Given the description of an element on the screen output the (x, y) to click on. 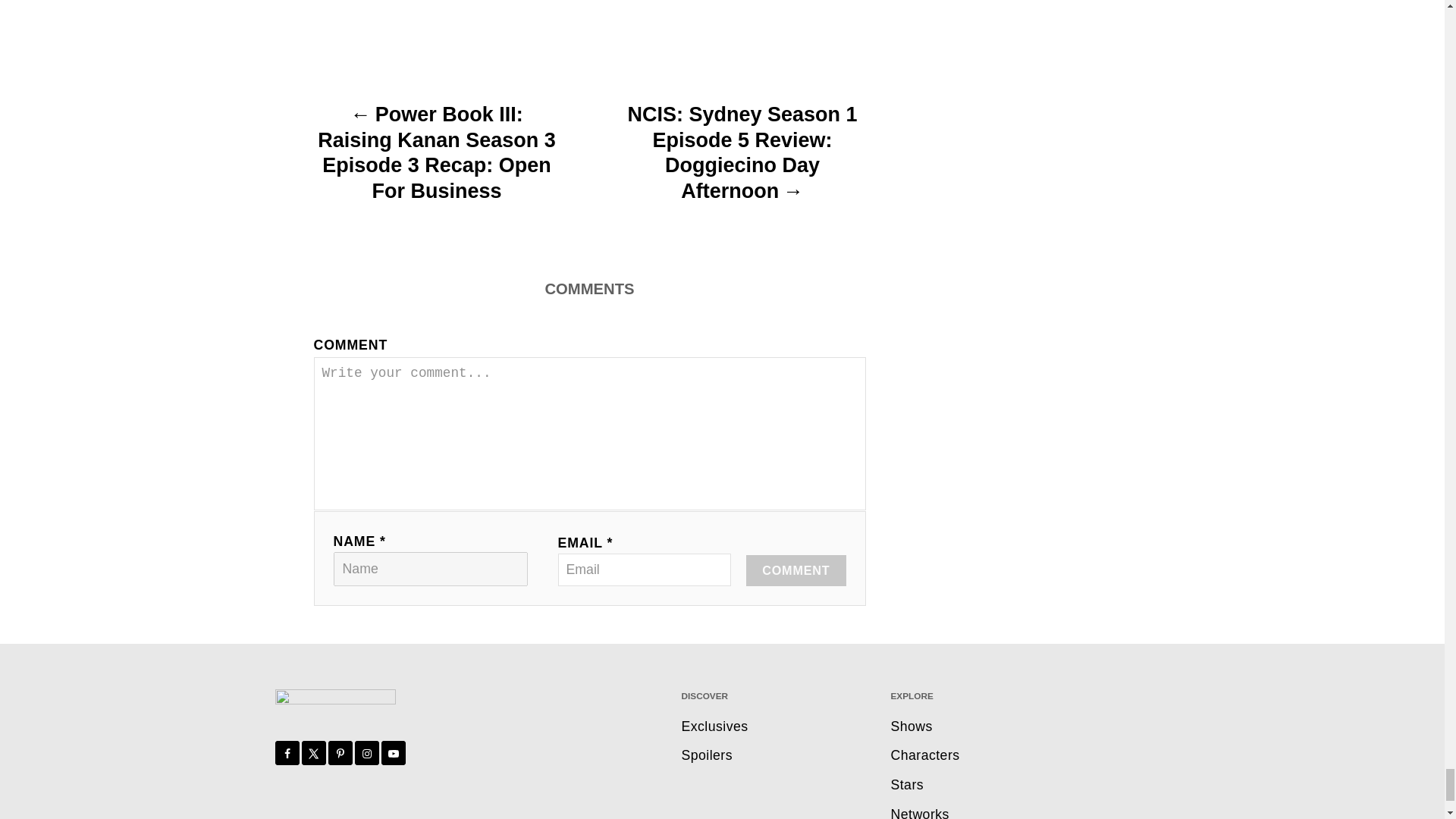
Follow on Facebook (286, 752)
